Given the description of an element on the screen output the (x, y) to click on. 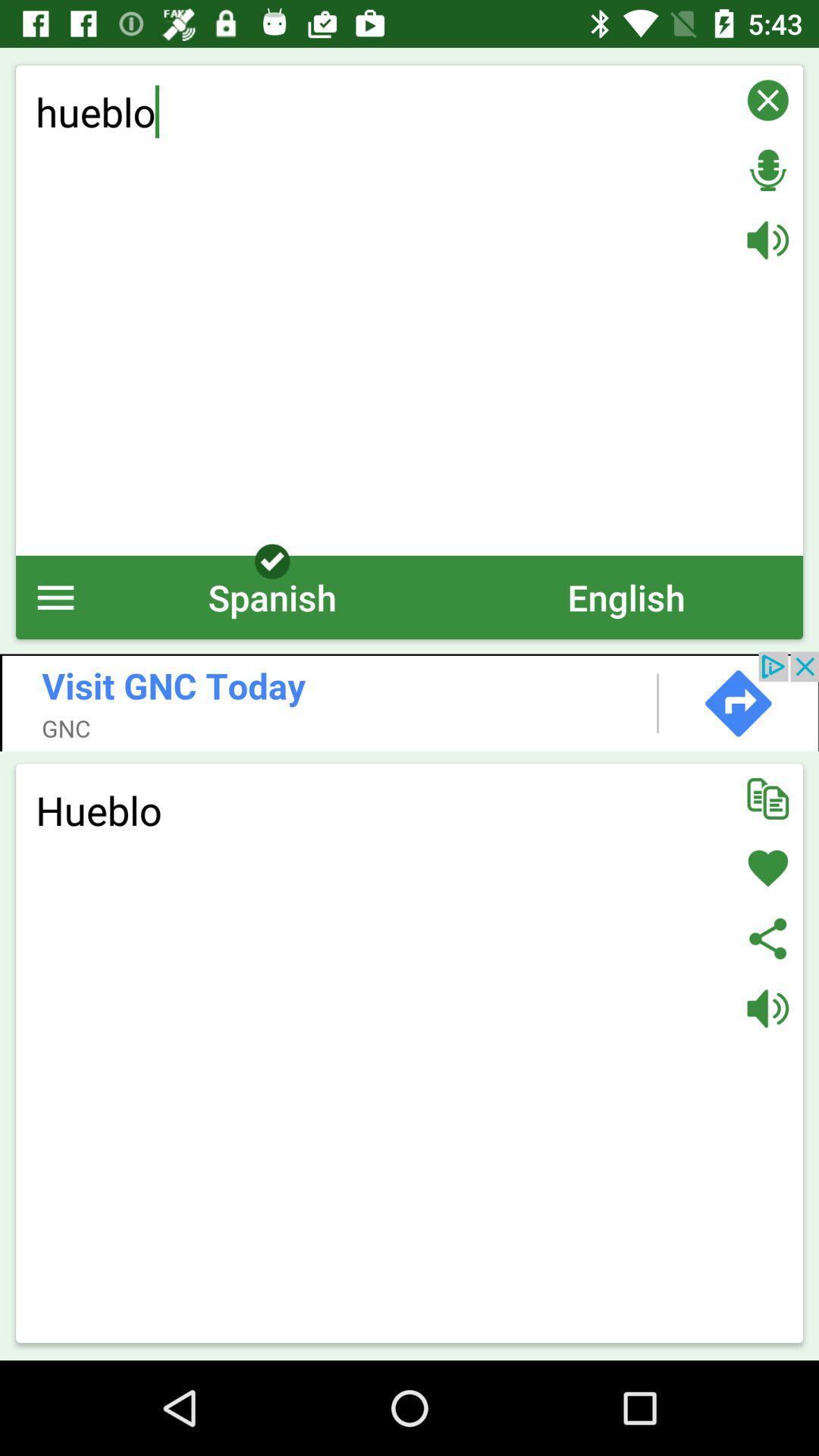
like (768, 868)
